Given the description of an element on the screen output the (x, y) to click on. 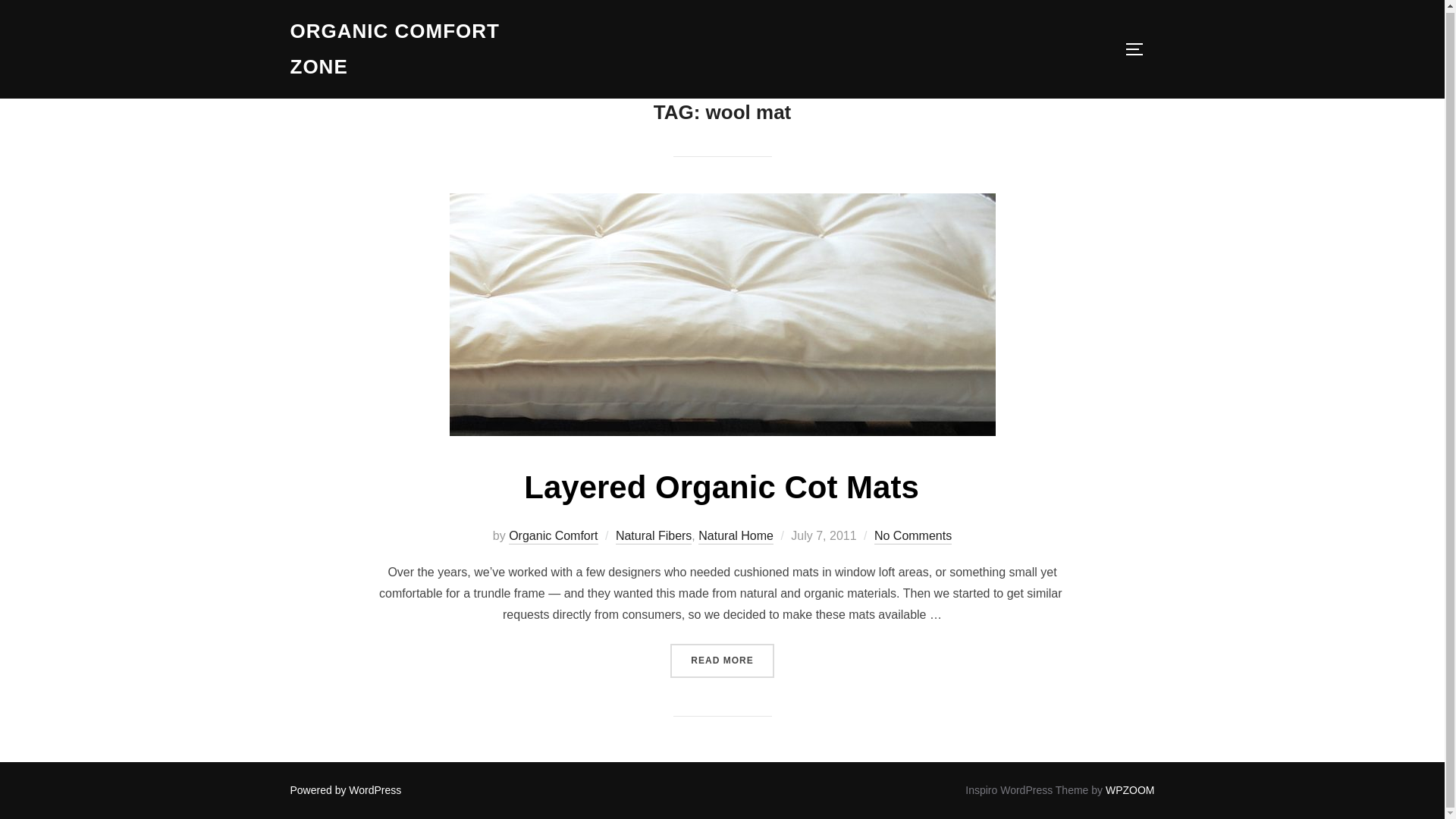
Powered by WordPress (345, 789)
Natural Fibers (653, 536)
Natural Home (735, 536)
Organic Comfort (552, 536)
WPZOOM (1129, 789)
ORGANIC COMFORT ZONE (421, 47)
No Comments (913, 536)
Layered Organic Cot Mats (721, 487)
